Given the description of an element on the screen output the (x, y) to click on. 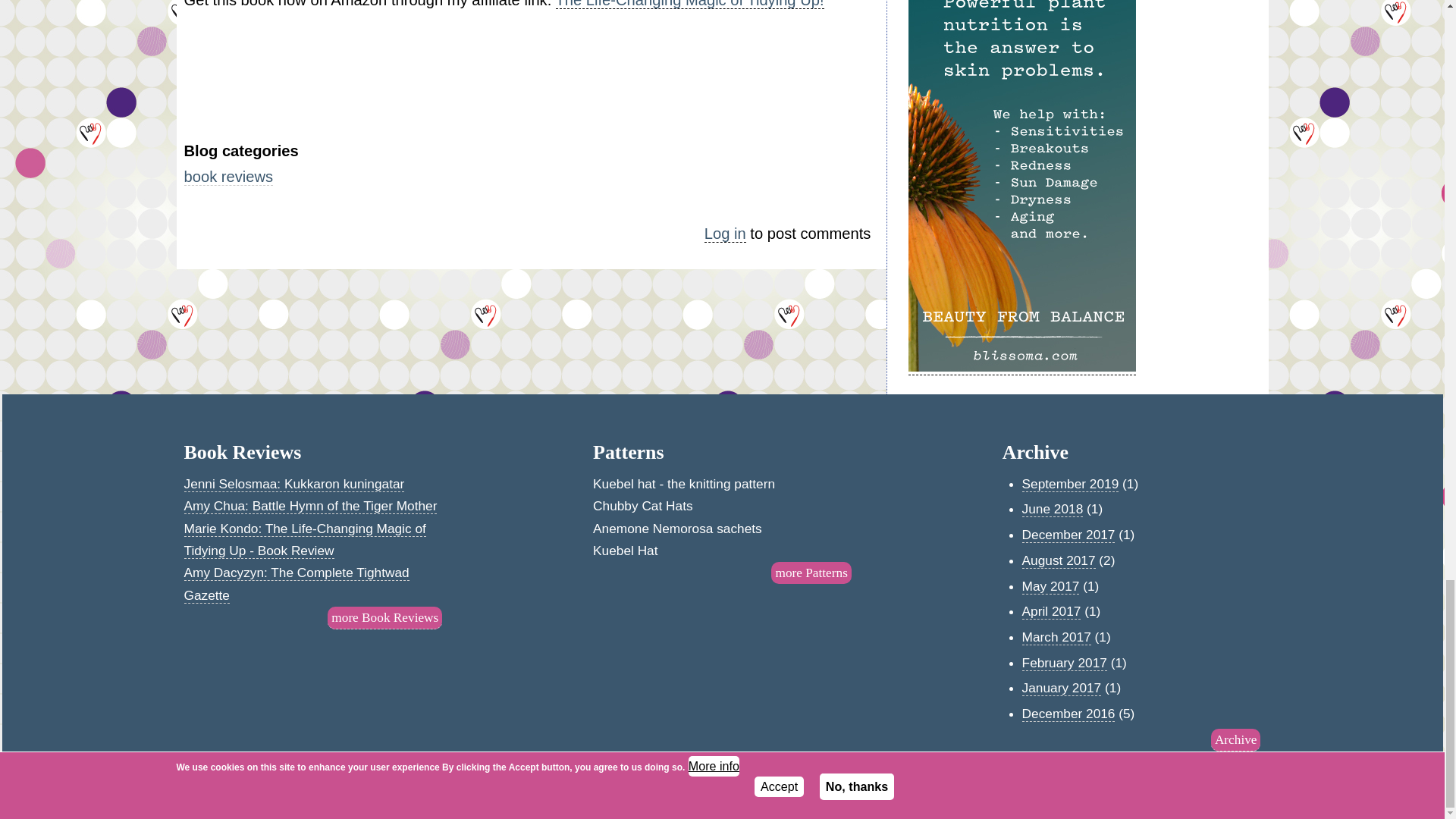
Kuebel hat - the knitting pattern (683, 483)
Jenni Selosmaa: Kukkaron kuningatar (293, 483)
The Life-Changing Magic of Tidying Up! (689, 4)
Log in (724, 233)
Anemone Nemorosa sachets (676, 528)
more Book Reviews (384, 617)
Amy Dacyzyn: The Complete Tightwad Gazette (296, 583)
September 2019 (1070, 483)
more Patterns (810, 572)
